Given the description of an element on the screen output the (x, y) to click on. 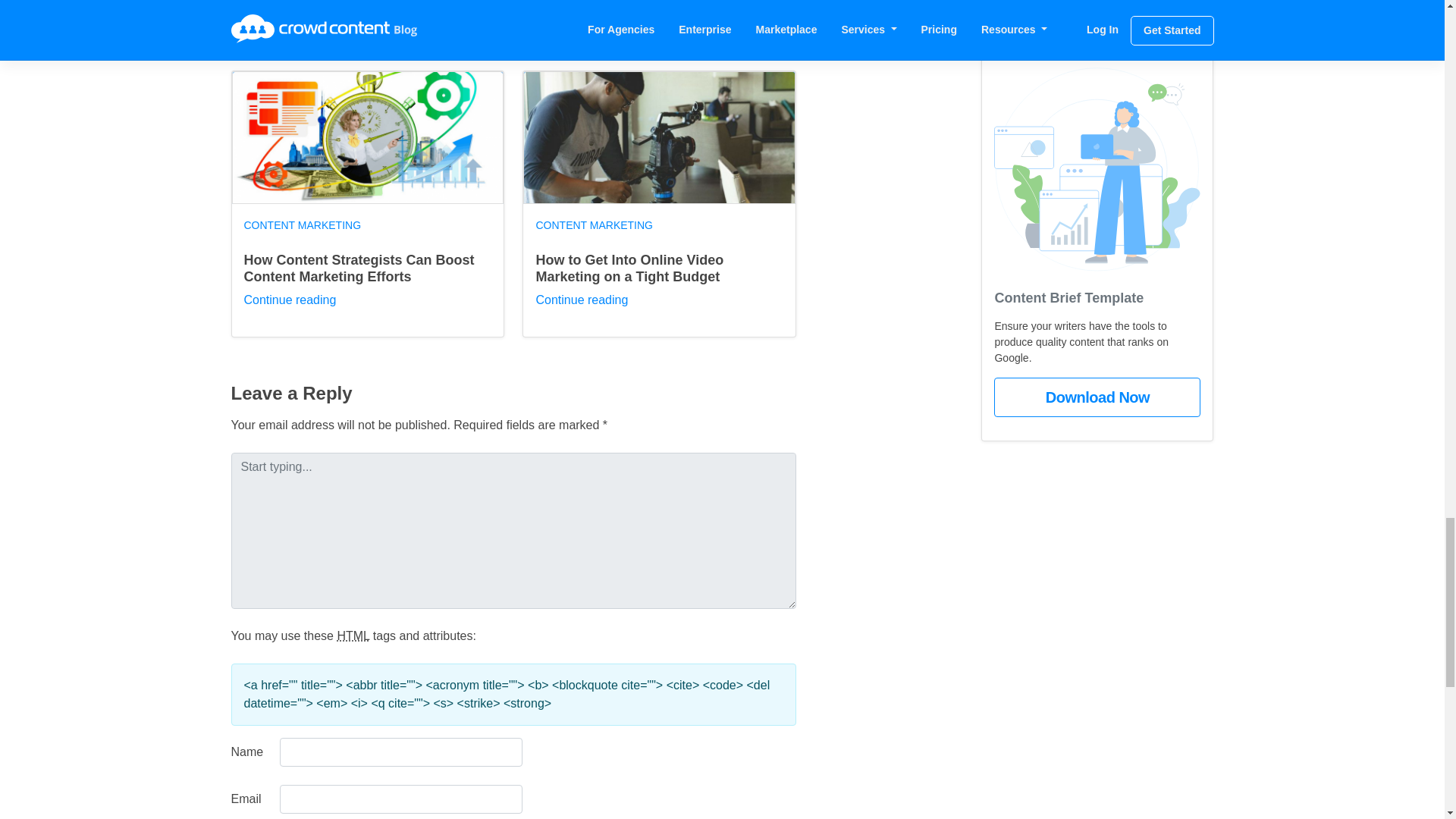
CONTENT MARKETING (302, 224)
